Given the description of an element on the screen output the (x, y) to click on. 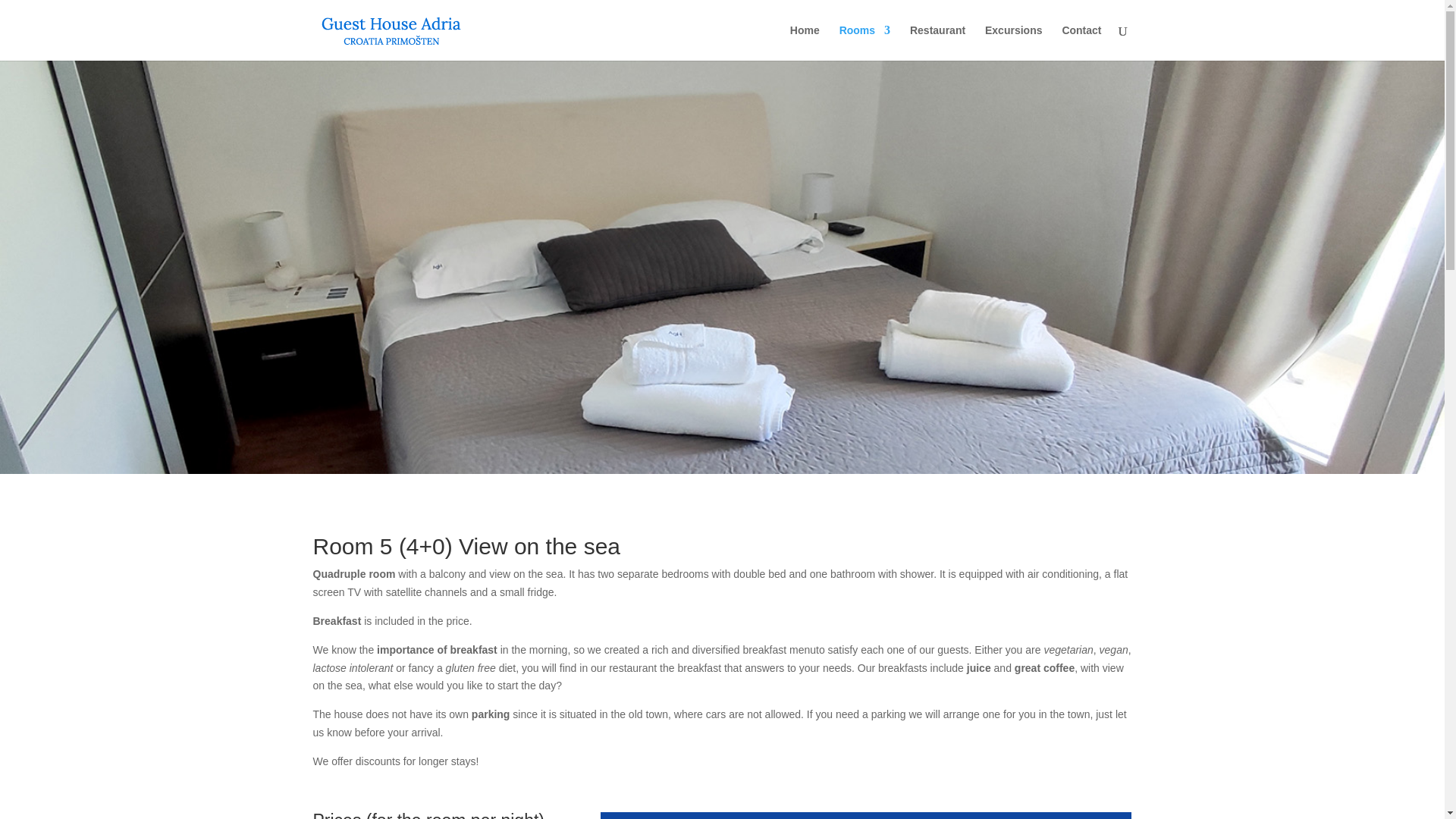
Excursions (1013, 42)
Restaurant (937, 42)
Contact (1080, 42)
Rooms (864, 42)
